Given the description of an element on the screen output the (x, y) to click on. 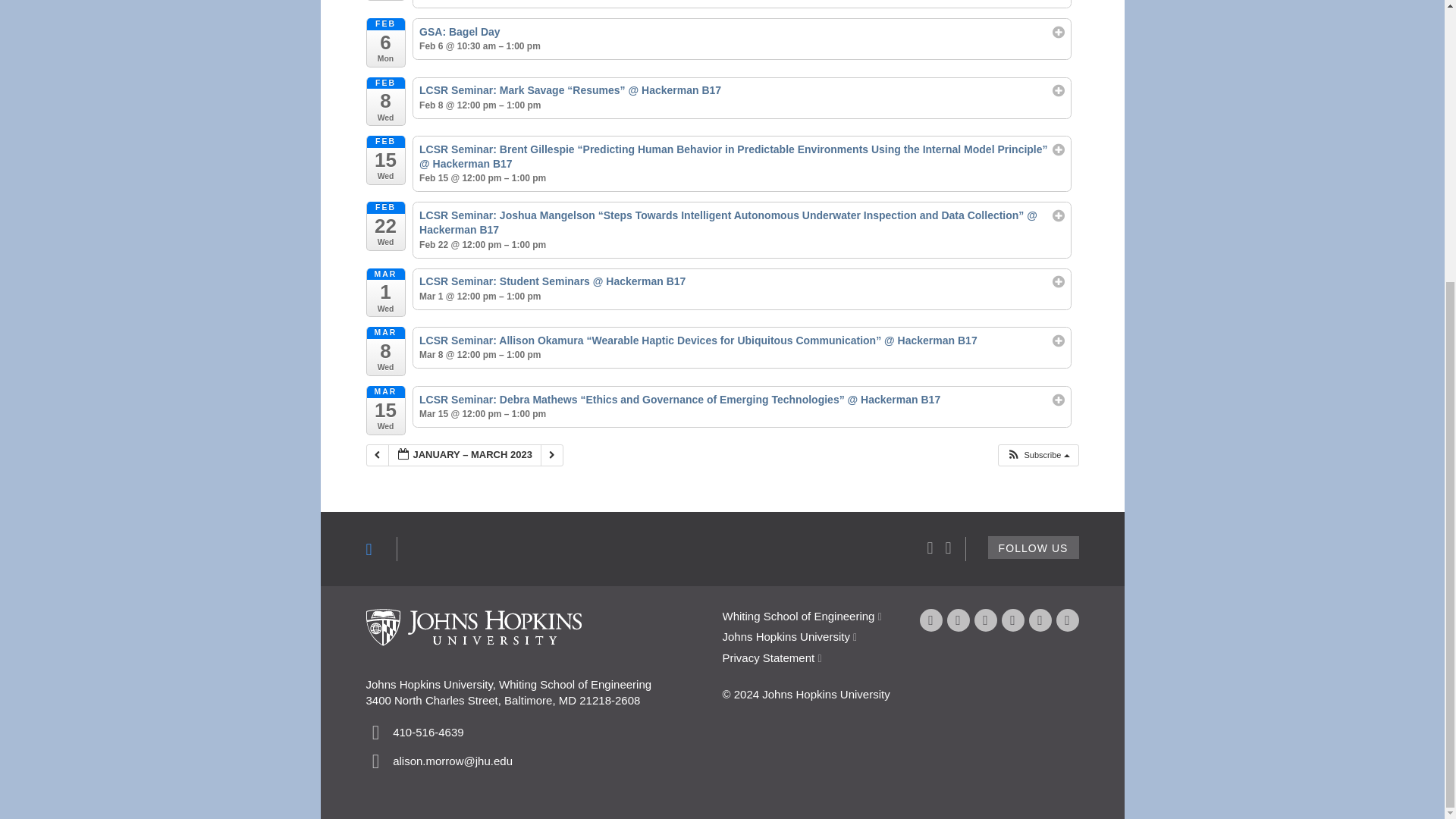
Instagram (1066, 620)
Facebook (930, 620)
Follow us on Twitter (1033, 547)
Choose a date using calendar (464, 455)
LinkedIn (1039, 620)
Twitter (957, 620)
YouTube (984, 620)
